Given the description of an element on the screen output the (x, y) to click on. 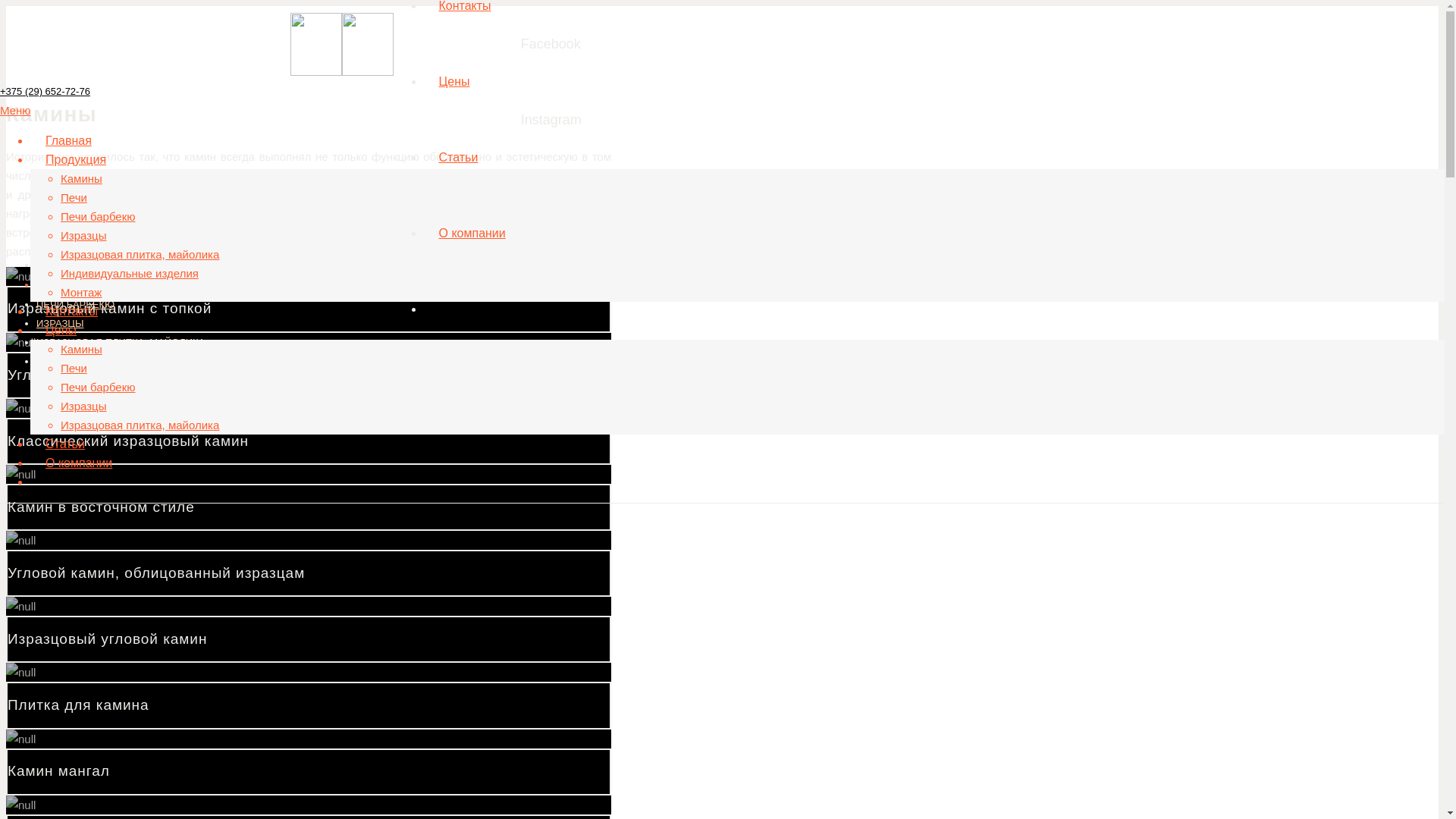
+375 (29) 652-72-76 Element type: text (45, 91)
